Given the description of an element on the screen output the (x, y) to click on. 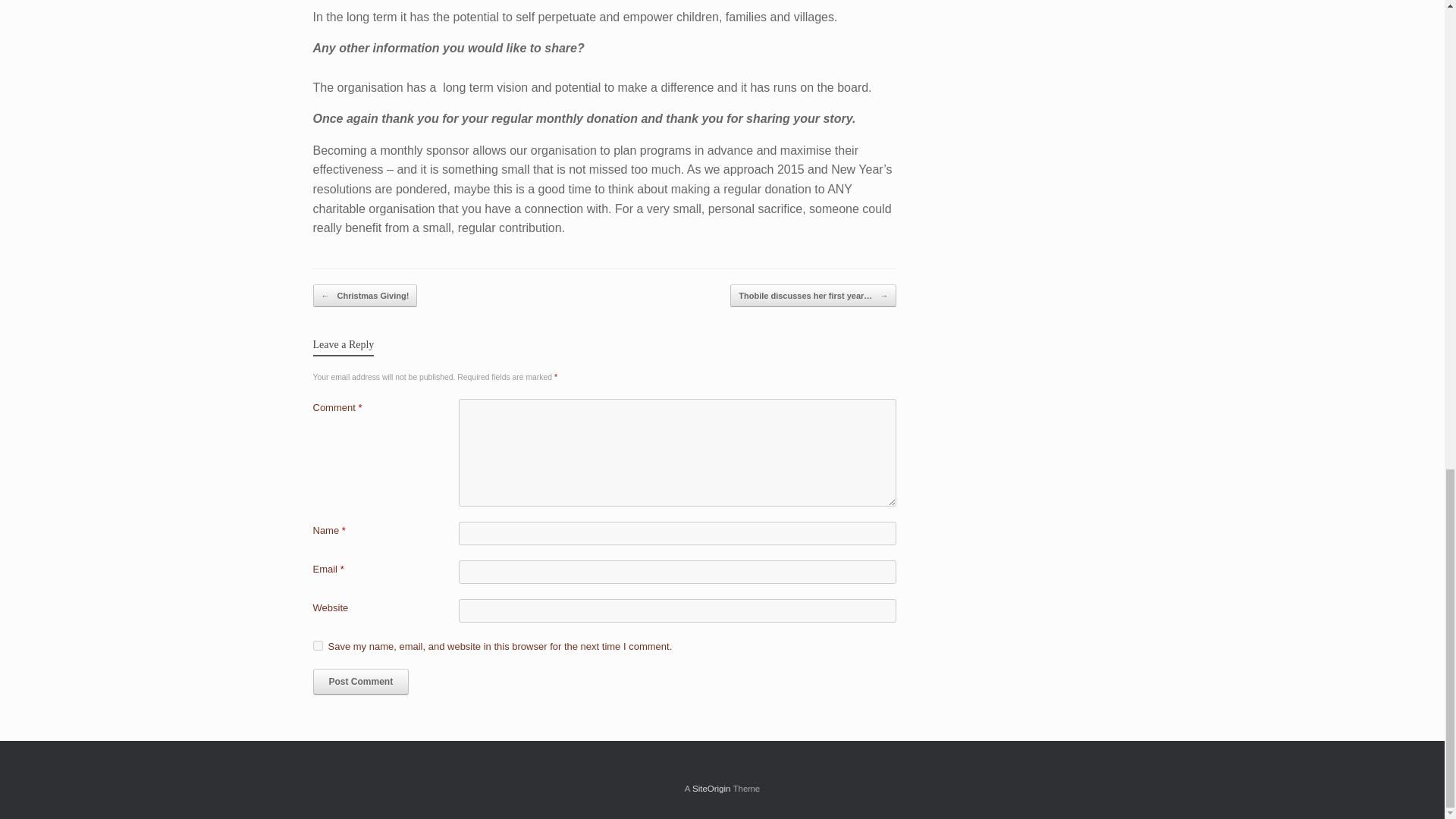
Post Comment (361, 681)
yes (317, 645)
SiteOrigin (711, 788)
Post Comment (361, 681)
